Given the description of an element on the screen output the (x, y) to click on. 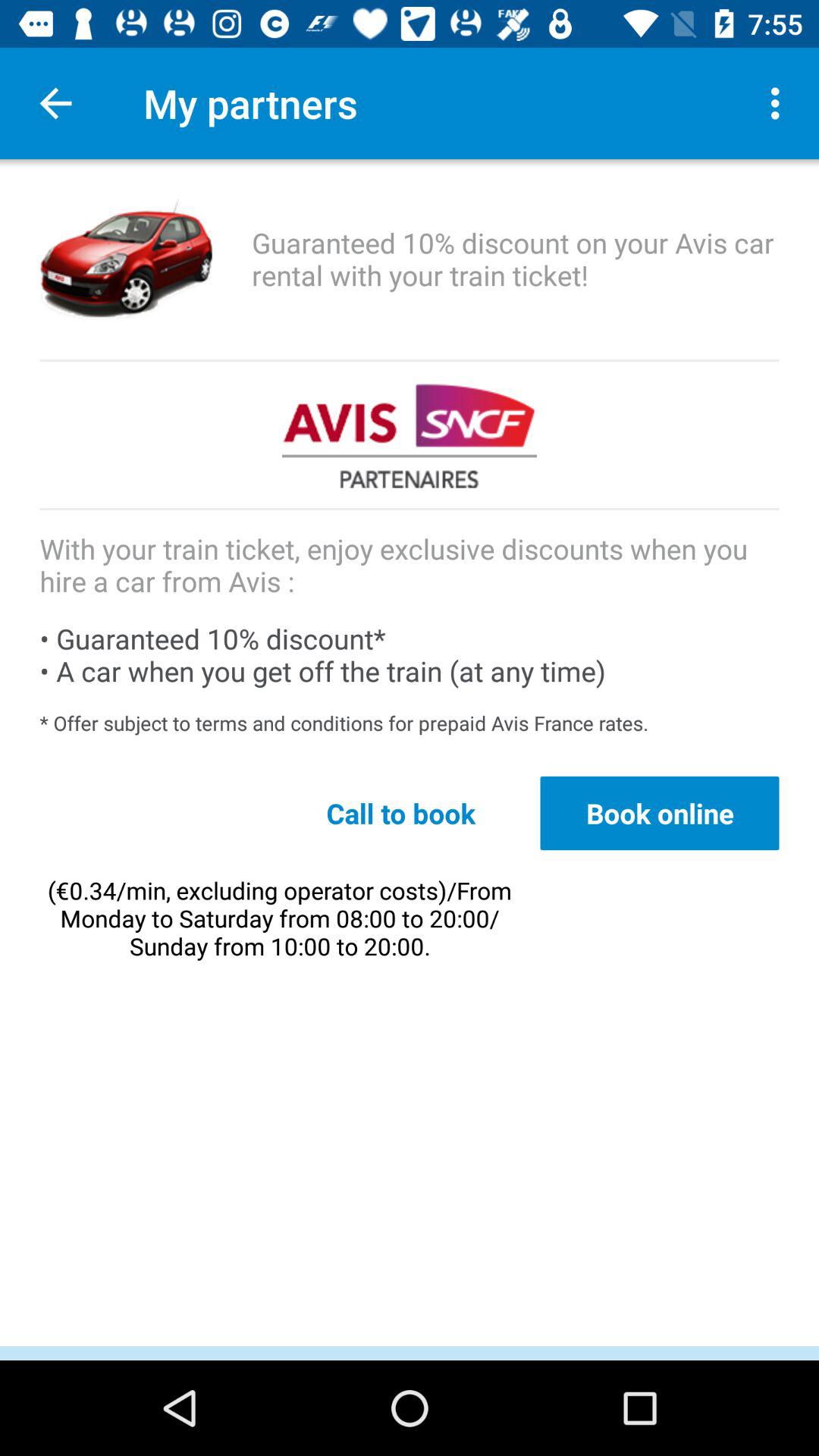
open icon on the right (659, 813)
